Given the description of an element on the screen output the (x, y) to click on. 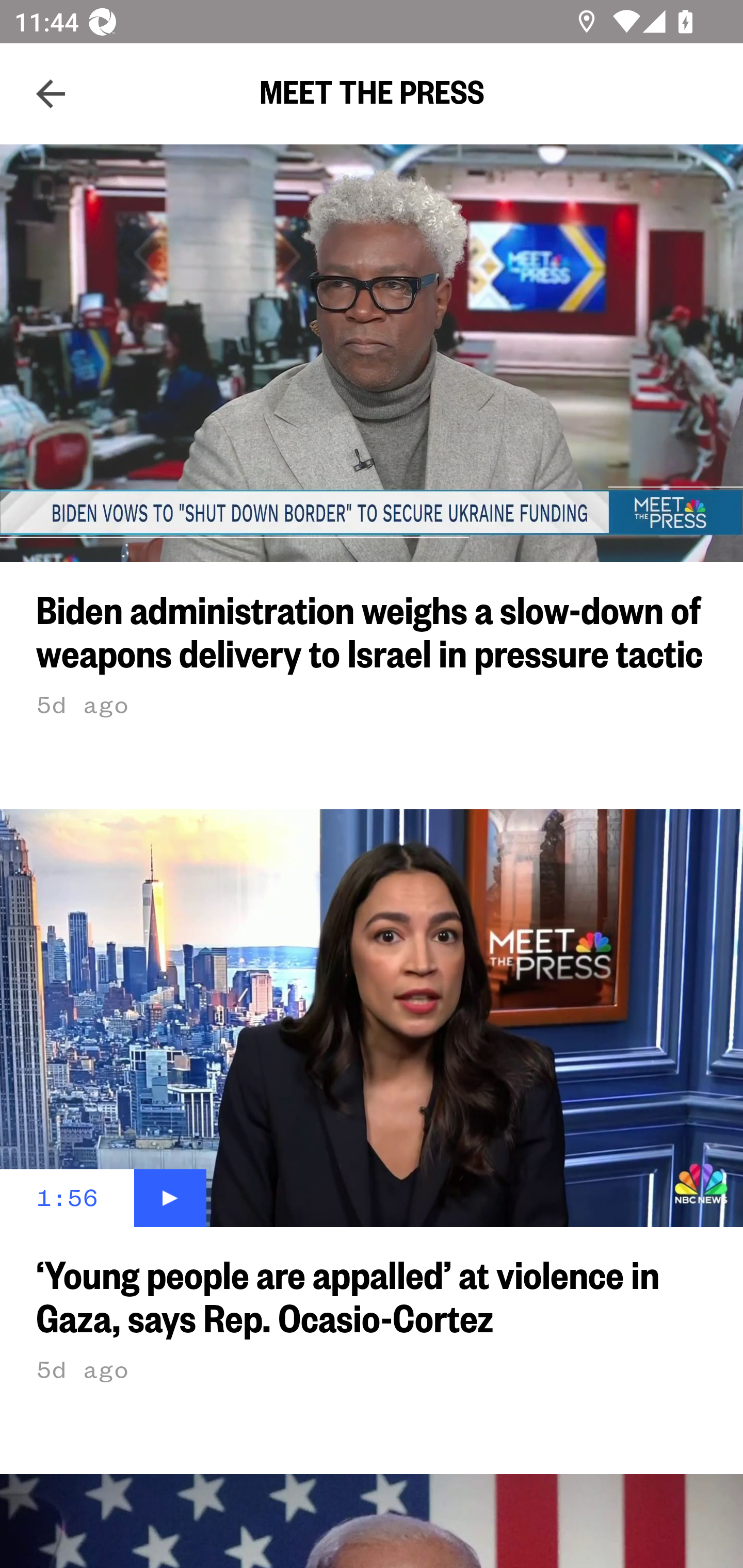
Navigate up (50, 93)
